Given the description of an element on the screen output the (x, y) to click on. 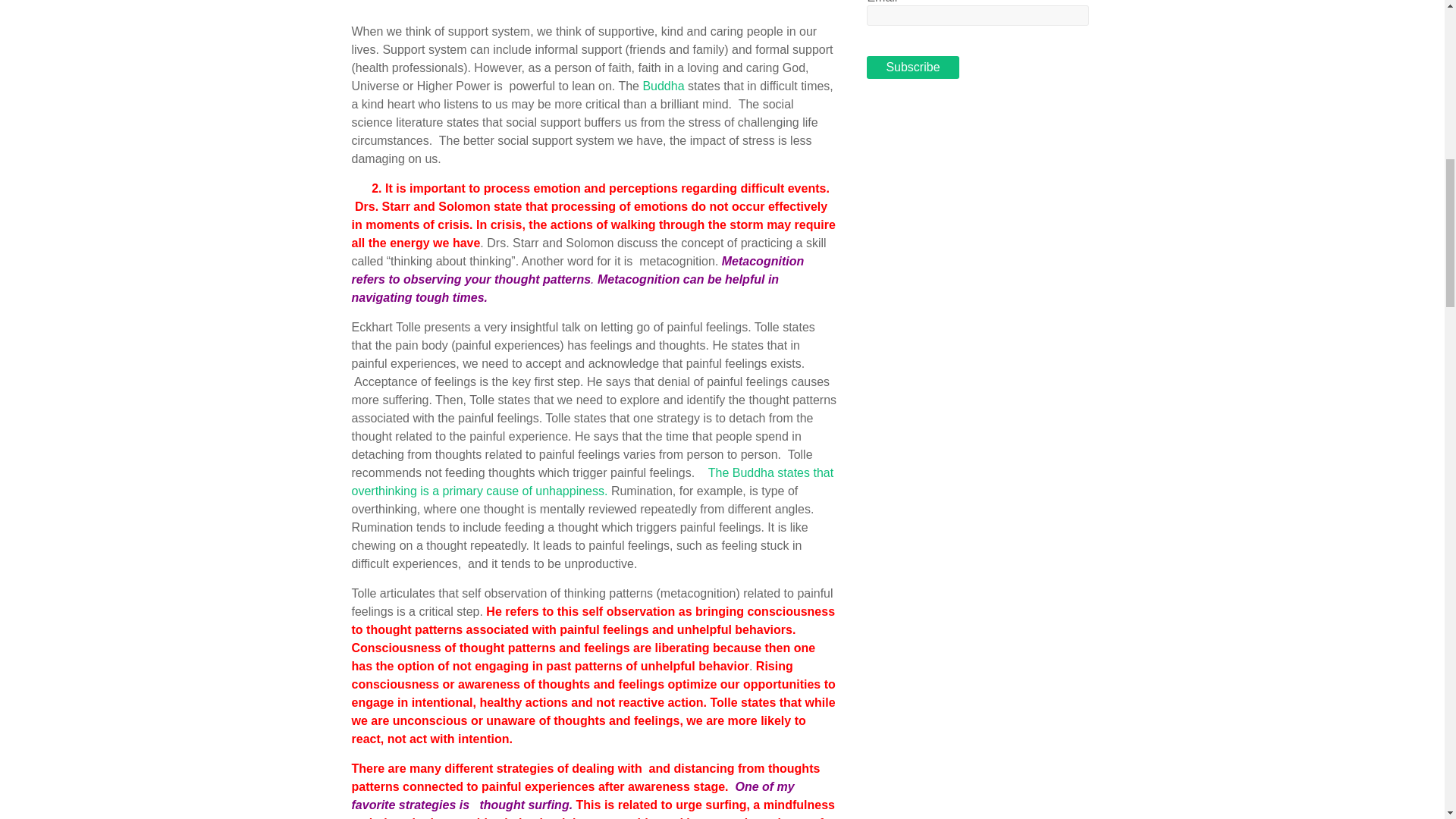
Subscribe (912, 67)
Buddha (663, 85)
Subscribe (912, 67)
